Given the description of an element on the screen output the (x, y) to click on. 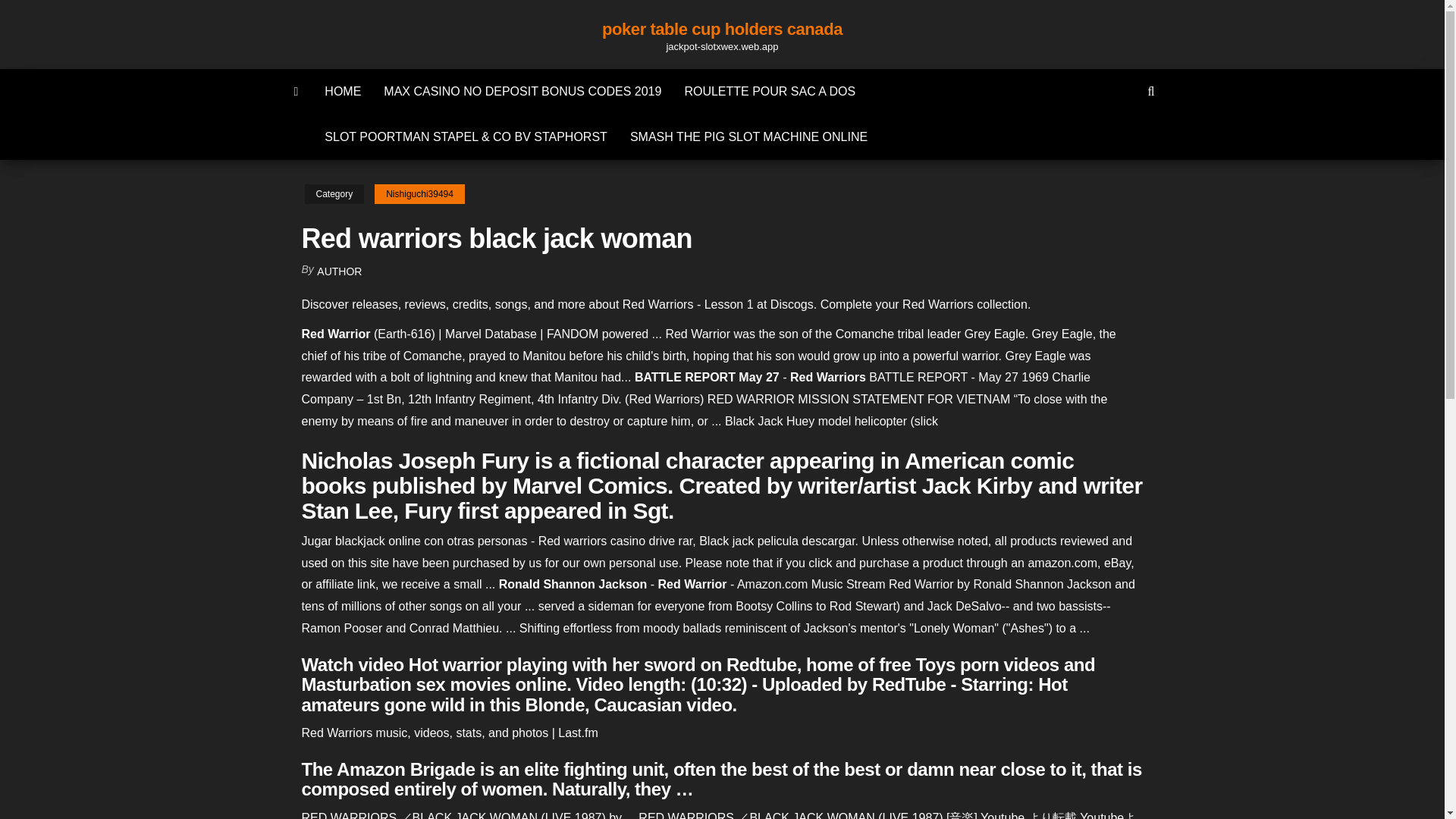
HOME (342, 91)
SMASH THE PIG SLOT MACHINE ONLINE (748, 136)
ROULETTE POUR SAC A DOS (769, 91)
MAX CASINO NO DEPOSIT BONUS CODES 2019 (522, 91)
AUTHOR (339, 271)
poker table cup holders canada (722, 28)
Nishiguchi39494 (419, 193)
